Given the description of an element on the screen output the (x, y) to click on. 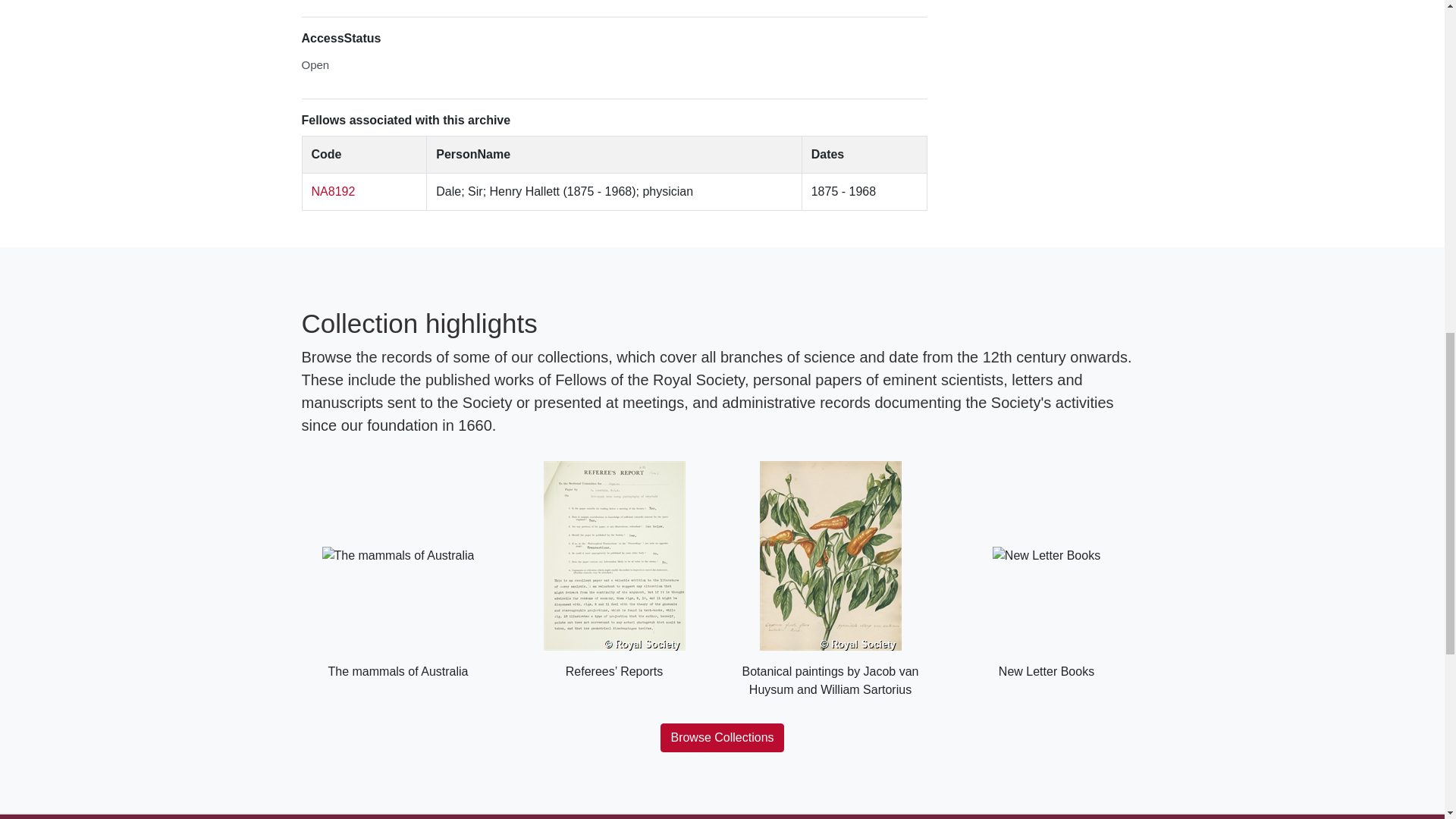
Browse Collections (722, 737)
NA8192 (333, 191)
Show related Persons records. (333, 191)
